Given the description of an element on the screen output the (x, y) to click on. 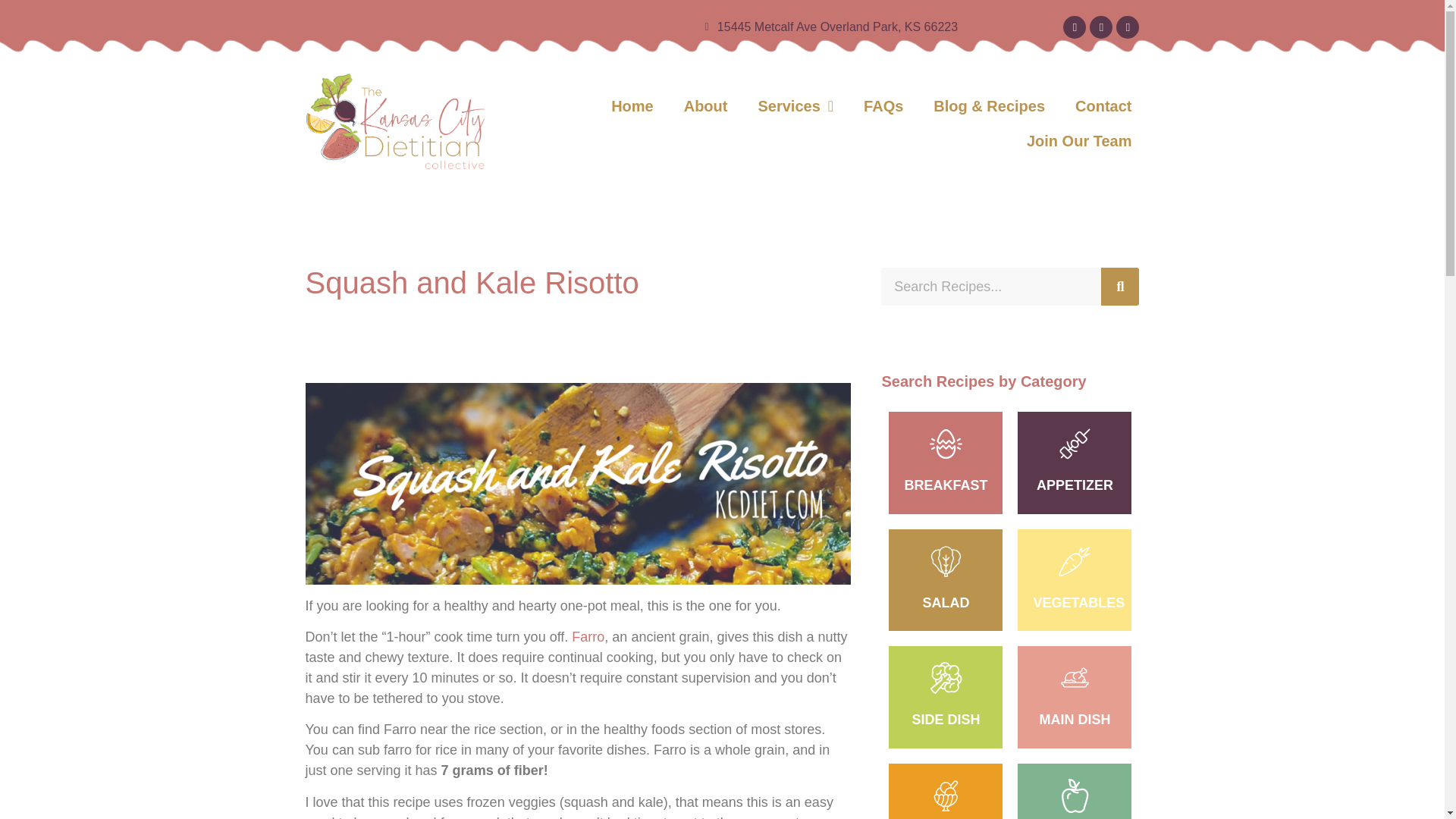
SALAD (945, 602)
15445 Metcalf Ave Overland Park, KS 66223 (631, 27)
Join Our Team (1079, 140)
Home (631, 105)
SIDE DISH (945, 719)
BREAKFAST (945, 485)
About (705, 105)
FAQs (883, 105)
Services (795, 105)
Contact (1103, 105)
